Given the description of an element on the screen output the (x, y) to click on. 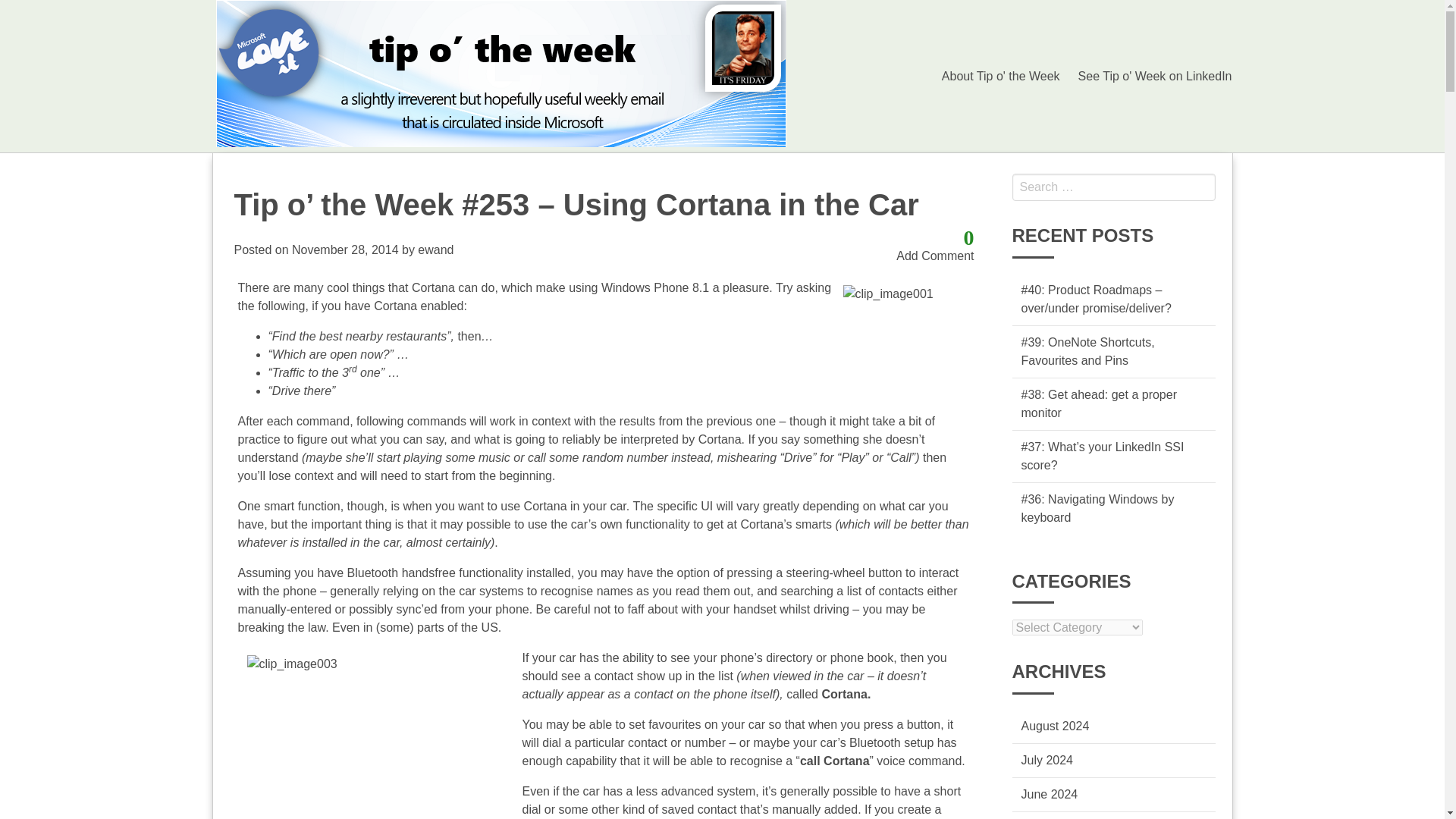
figure out what you can say (370, 439)
See Tip o' Week on LinkedIn (1154, 75)
Search (25, 9)
parts of the US (456, 626)
cool things that Cortana (390, 287)
July 2024 (1046, 759)
August 2024 (1054, 725)
November 28, 2014 (345, 249)
Search for: (1112, 186)
almost certainly (448, 542)
